Given the description of an element on the screen output the (x, y) to click on. 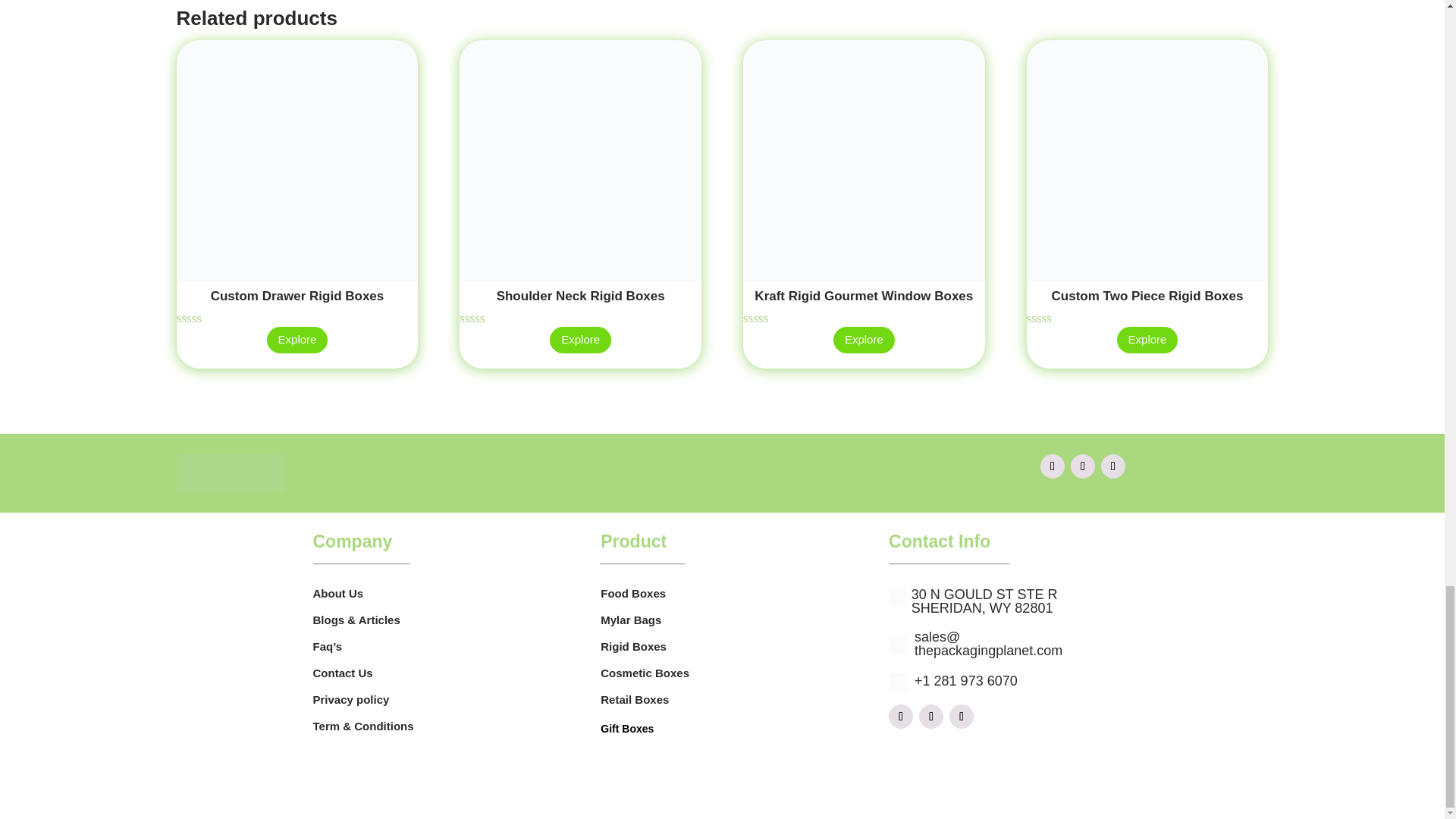
Follow on Facebook (900, 716)
Follow on LinkedIn (961, 716)
Follow on Instagram (930, 716)
Follow on LinkedIn (1112, 466)
Follow on Facebook (1052, 466)
Follow on Instagram (1082, 466)
